Given the description of an element on the screen output the (x, y) to click on. 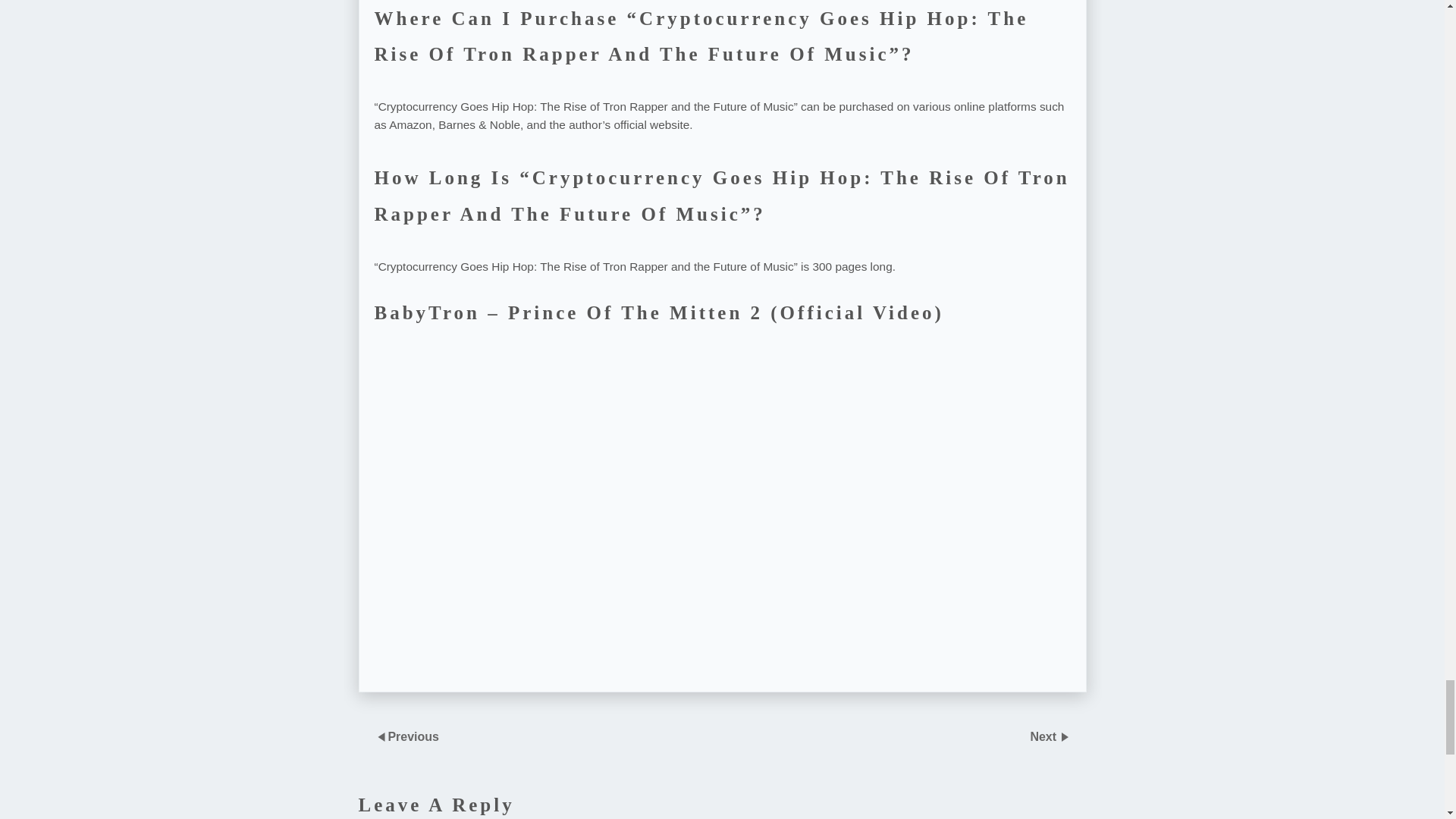
Previous (413, 735)
Next (1044, 735)
